Given the description of an element on the screen output the (x, y) to click on. 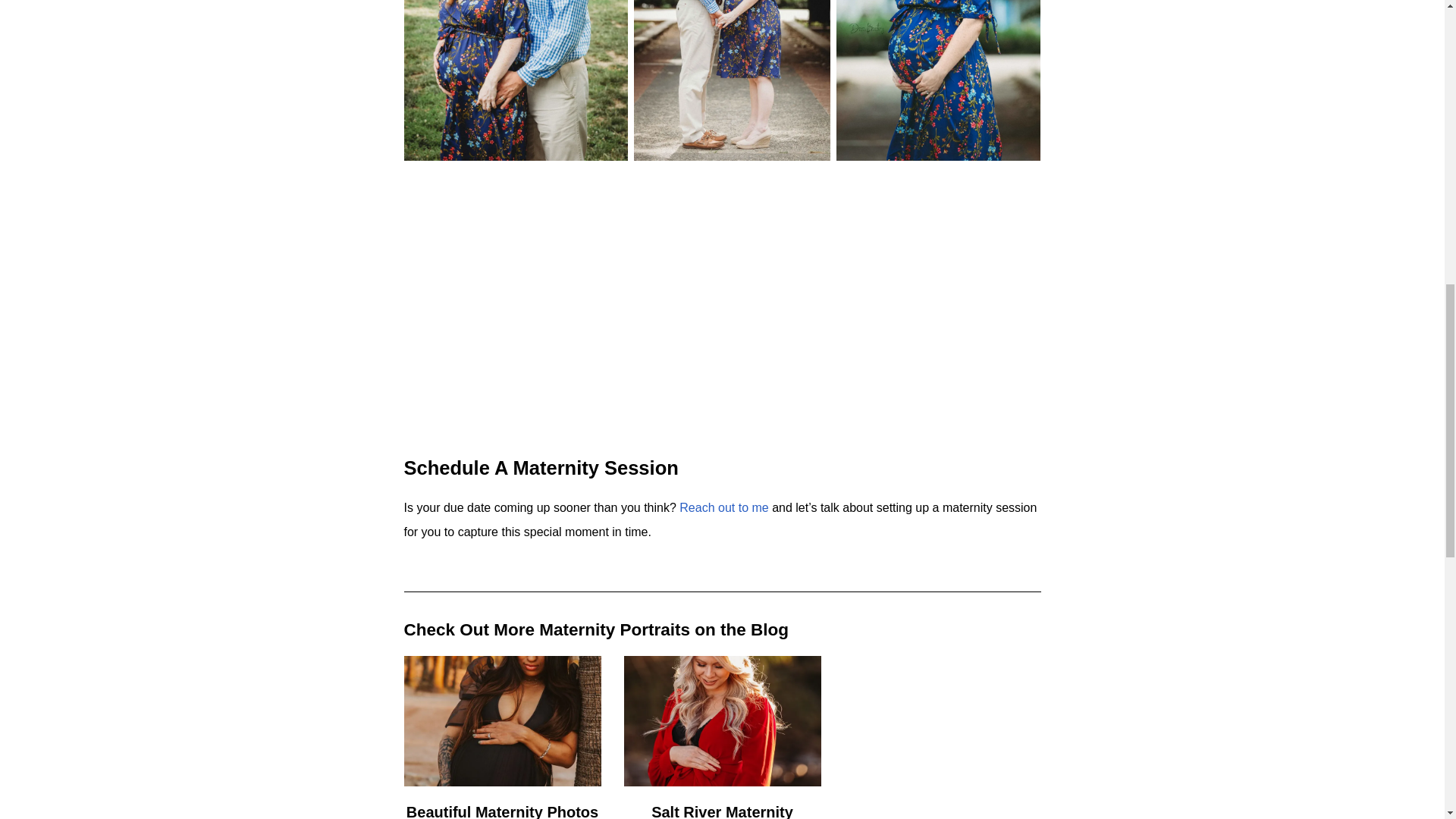
Salt River Maternity Photos (721, 811)
Reach out to me (723, 507)
Beautiful Maternity Photos at Papago Park in Phoenix (502, 811)
